Given the description of an element on the screen output the (x, y) to click on. 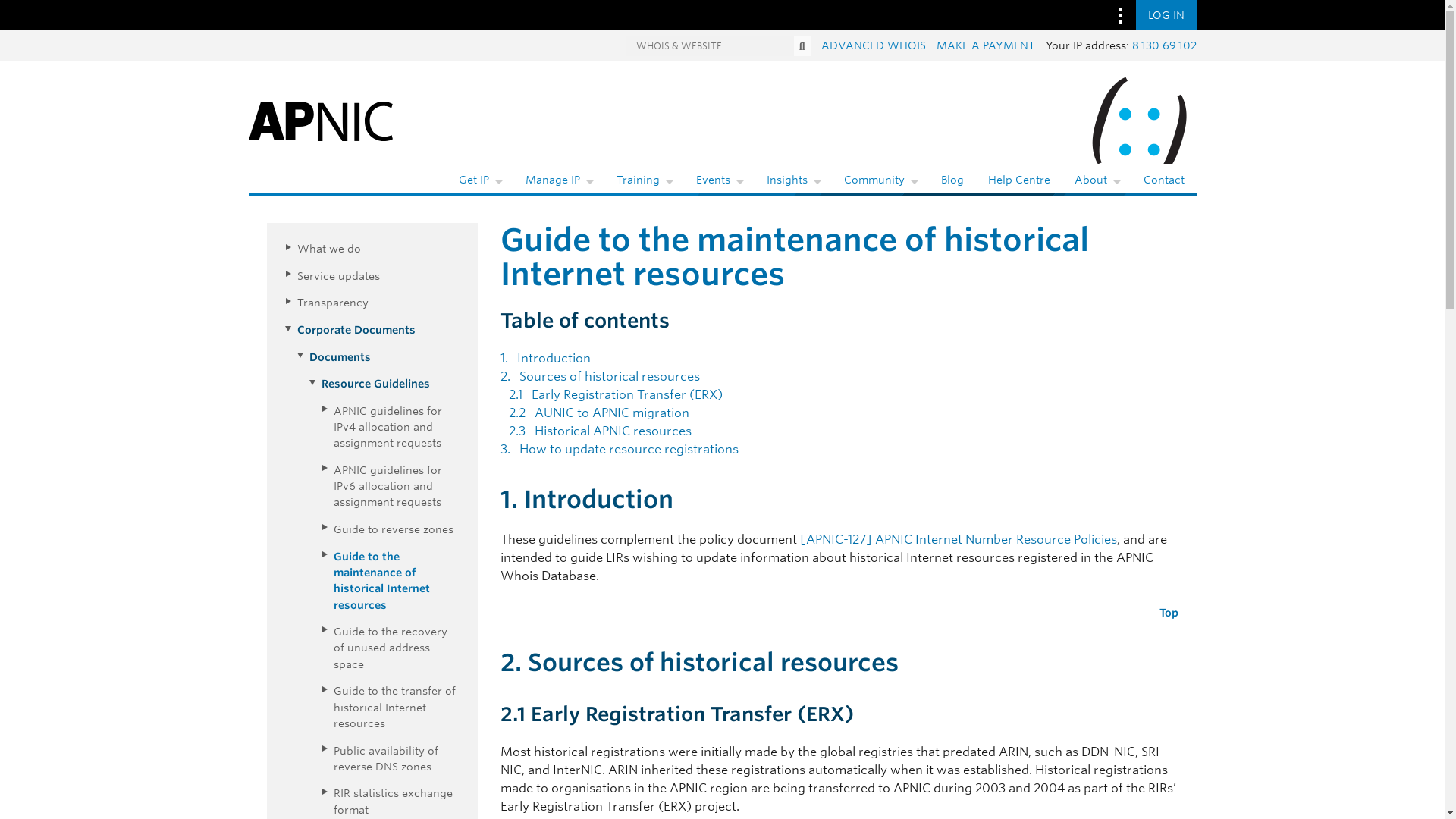
8.130.69.102 (1163, 45)
MAKE A PAYMENT (984, 45)
LOG IN (1165, 15)
ADVANCED WHOIS (872, 45)
